Given the description of an element on the screen output the (x, y) to click on. 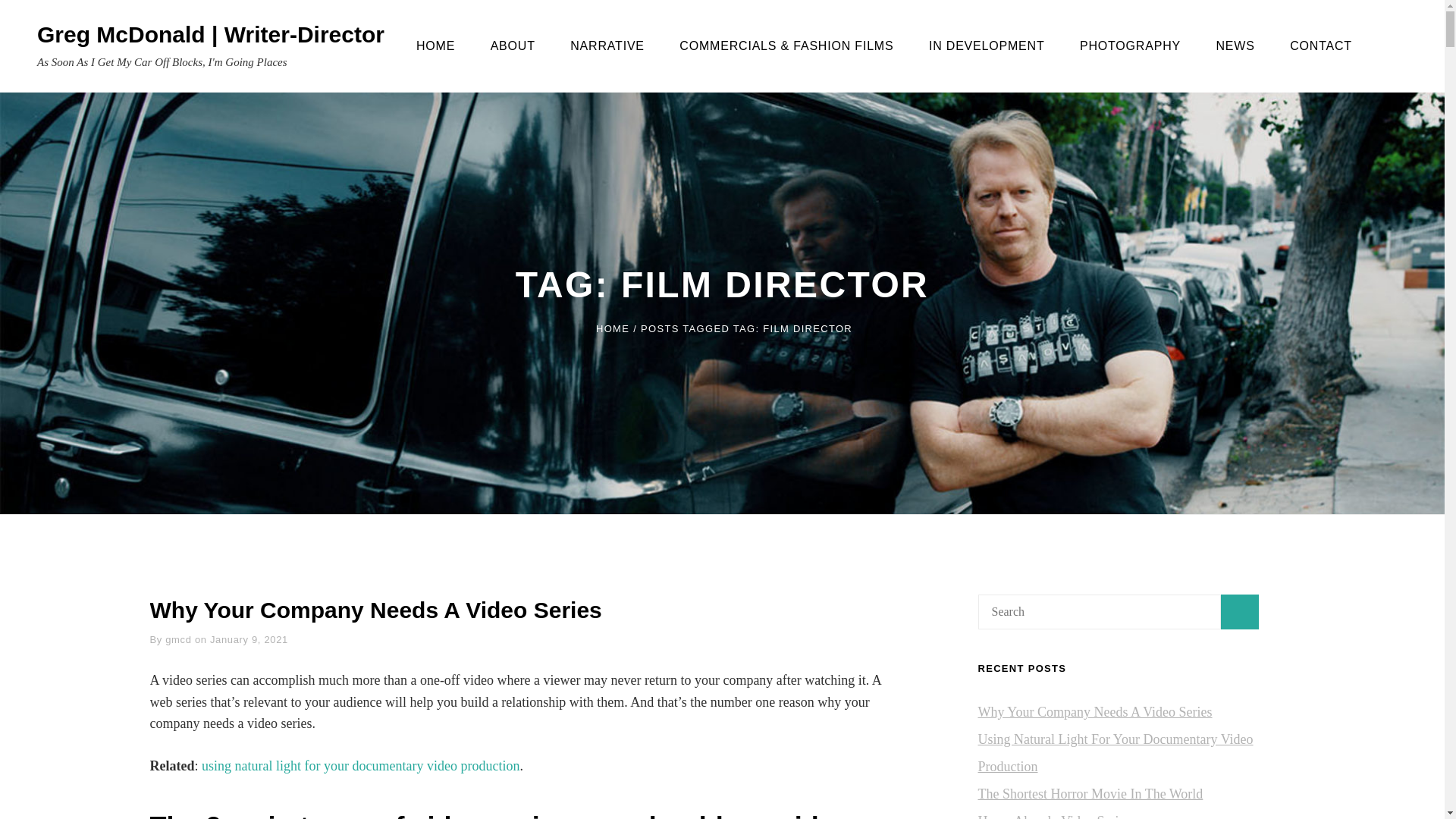
SEARCH (1400, 45)
NEWS (1234, 46)
ABOUT (512, 46)
using natural light for your documentary video production (360, 765)
CONTACT (1321, 46)
gmcd (177, 639)
Why Your Company Needs A Video Series (375, 609)
HOME (611, 328)
January 9, 2021 (248, 639)
NARRATIVE (607, 46)
